Given the description of an element on the screen output the (x, y) to click on. 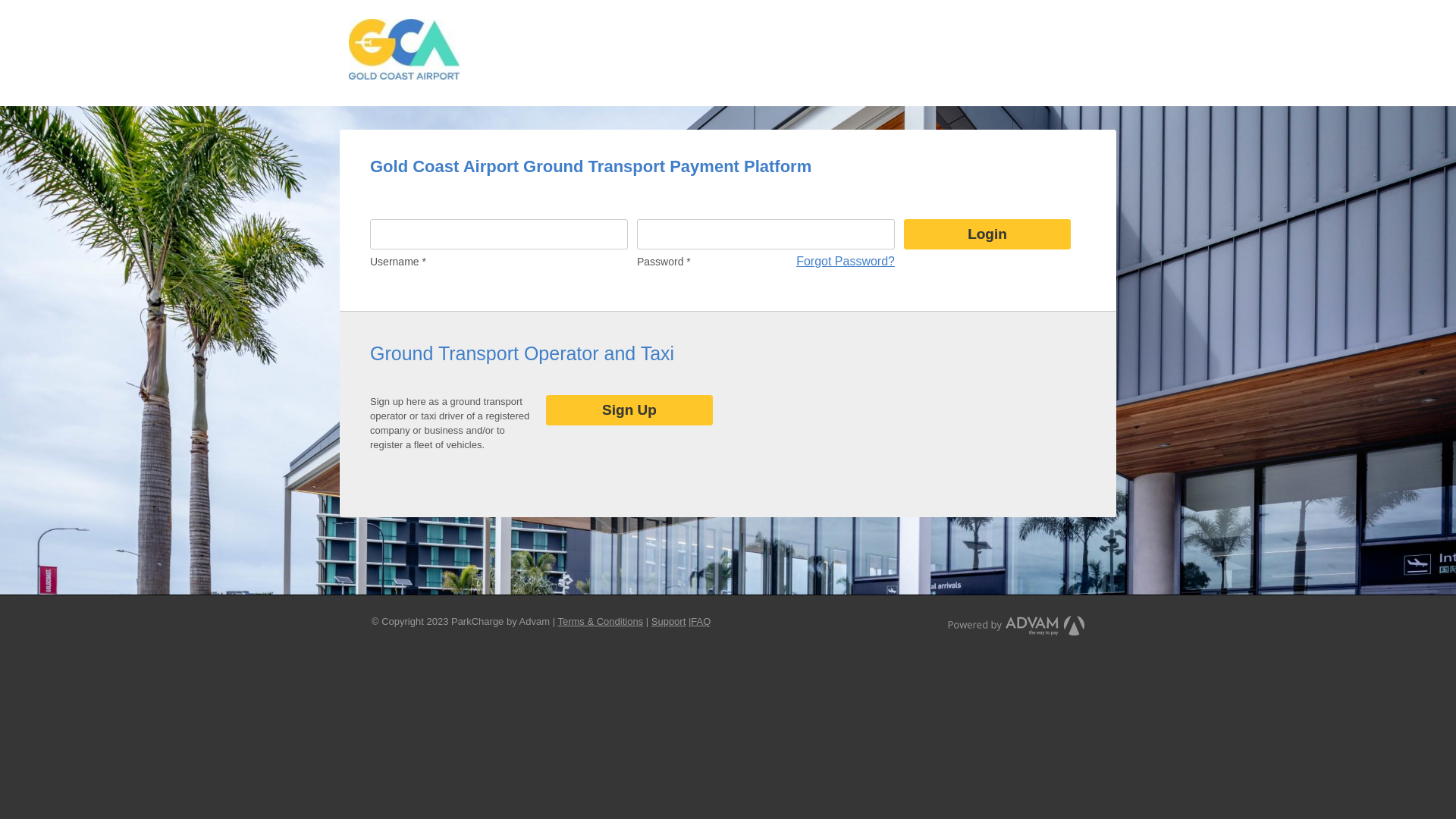
Sign Up Element type: text (629, 410)
Terms & Conditions Element type: text (600, 621)
Login Element type: text (986, 234)
Support Element type: text (668, 621)
FAQ Element type: text (700, 621)
Forgot Password? Element type: text (845, 260)
